Given the description of an element on the screen output the (x, y) to click on. 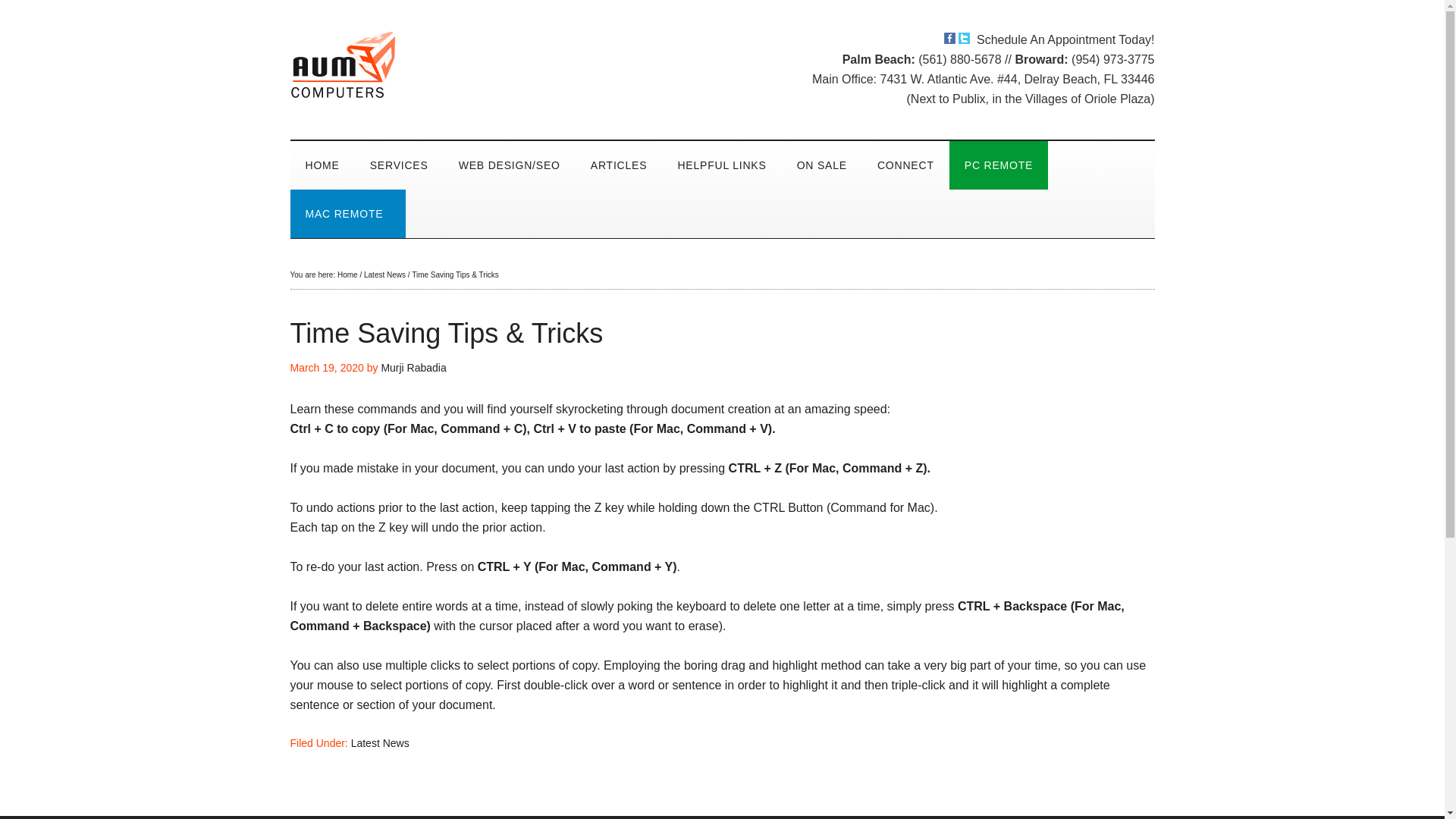
ARTICLES (618, 164)
Murji Rabadia (412, 367)
AUM Computers Delray Beach (433, 64)
SERVICES (399, 164)
Latest News (385, 275)
ON SALE (821, 164)
HOME (321, 164)
Latest News (379, 743)
CONNECT (905, 164)
